Given the description of an element on the screen output the (x, y) to click on. 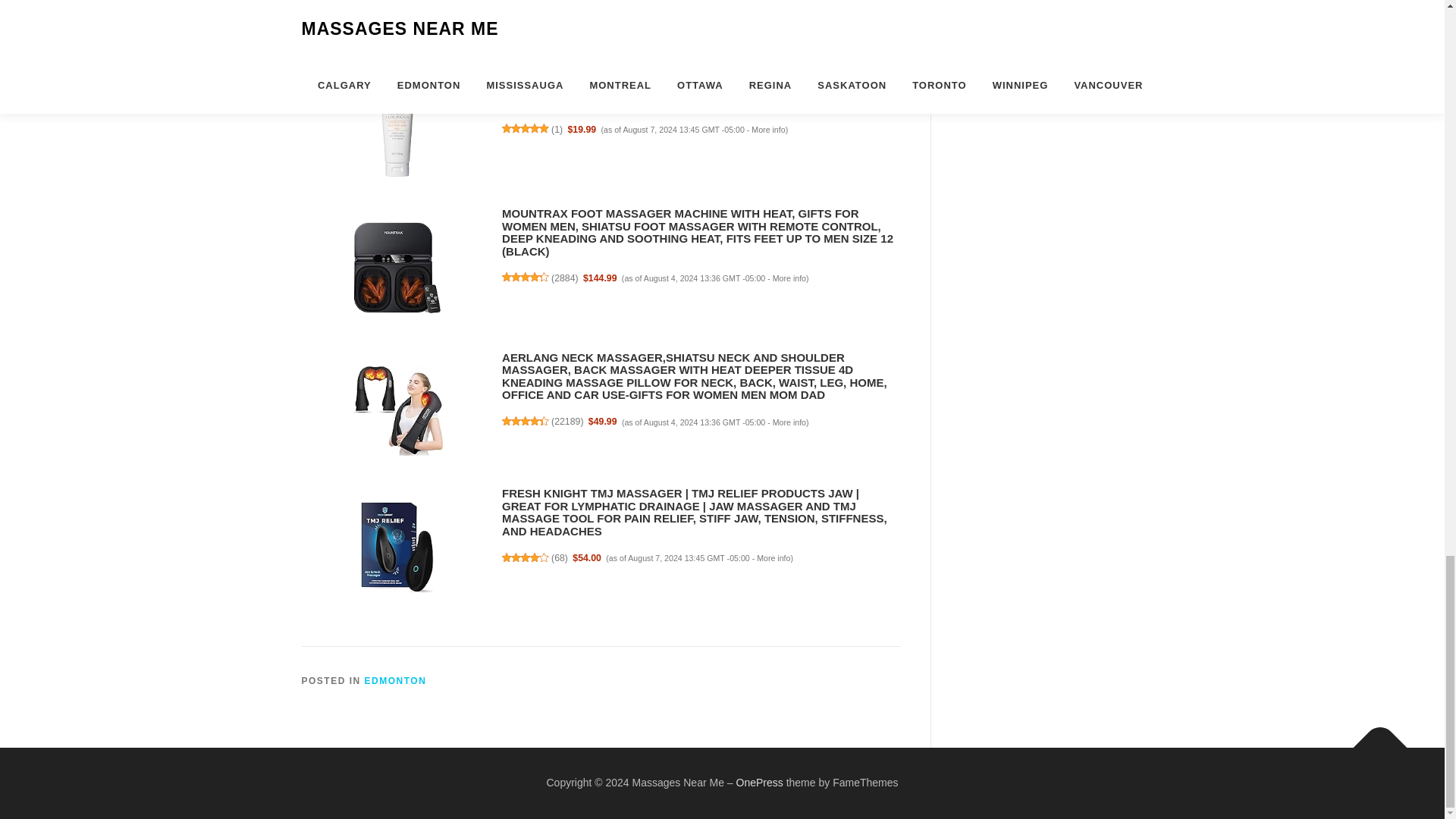
2884 (564, 277)
More info (767, 129)
More info (789, 277)
